Given the description of an element on the screen output the (x, y) to click on. 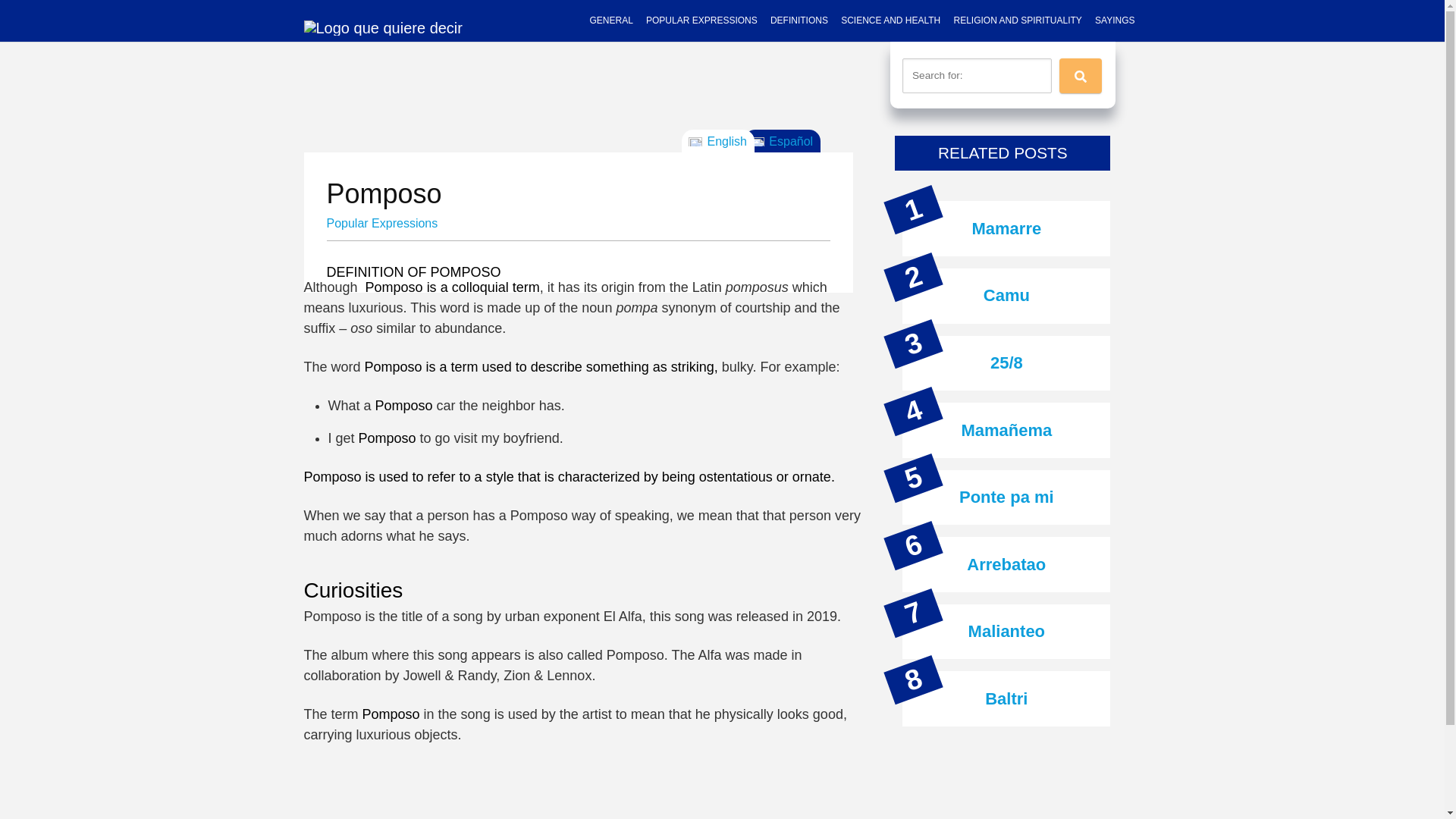
Baltri (1006, 698)
Search for: (976, 75)
Popular Expressions (382, 223)
Arrebatao (1005, 564)
SAYINGS (1114, 21)
Mamarre (1006, 228)
GENERAL (610, 21)
RELIGION AND SPIRITUALITY (1016, 21)
English (717, 140)
Ponte pa mi (1006, 496)
SCIENCE AND HEALTH (890, 21)
Malianteo (1006, 630)
Camu (1006, 294)
DEFINITIONS (798, 21)
POPULAR EXPRESSIONS (700, 21)
